Given the description of an element on the screen output the (x, y) to click on. 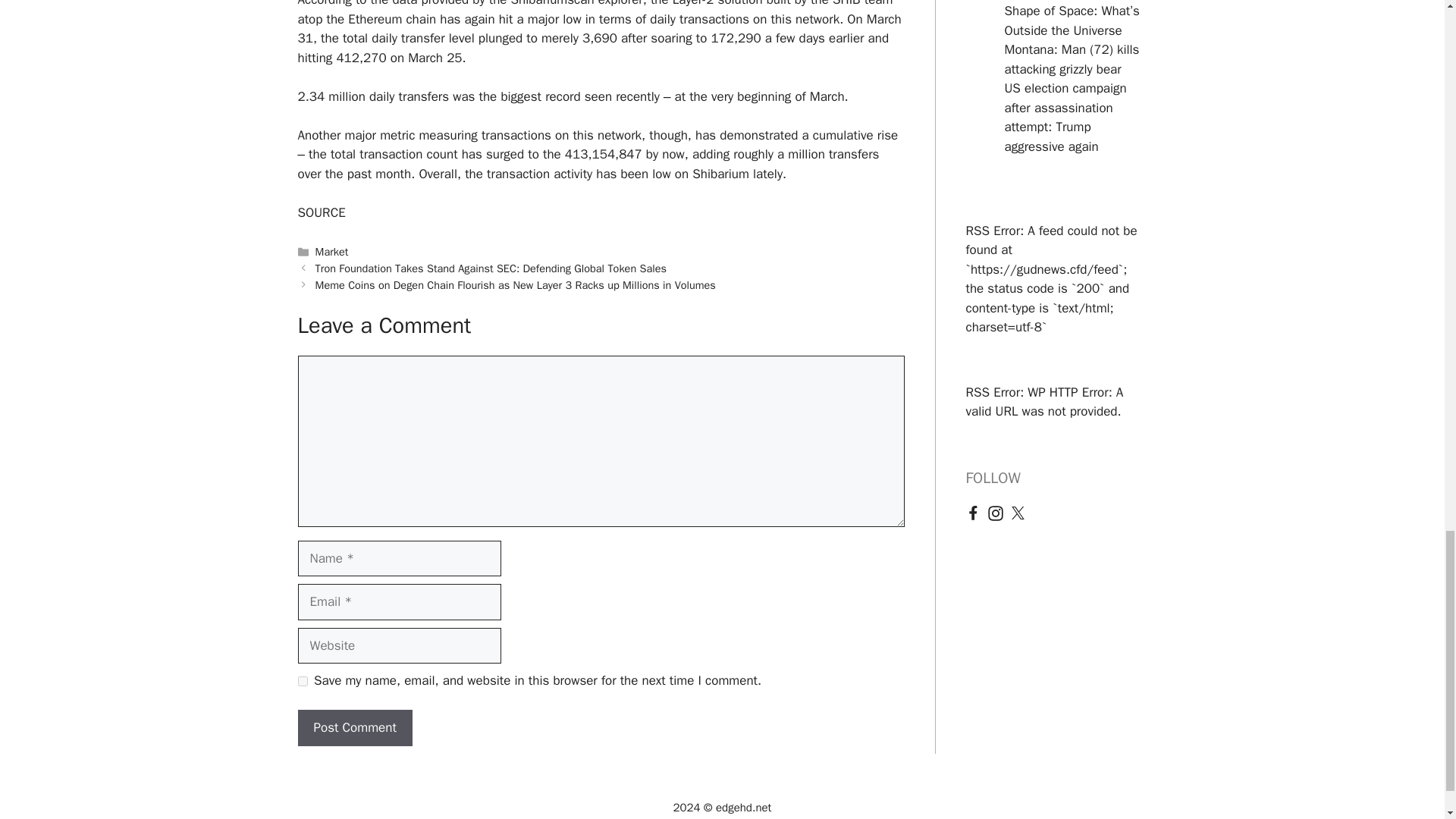
Post Comment (354, 728)
yes (302, 681)
SOURCE (321, 212)
Market (332, 251)
Post Comment (354, 728)
